Given the description of an element on the screen output the (x, y) to click on. 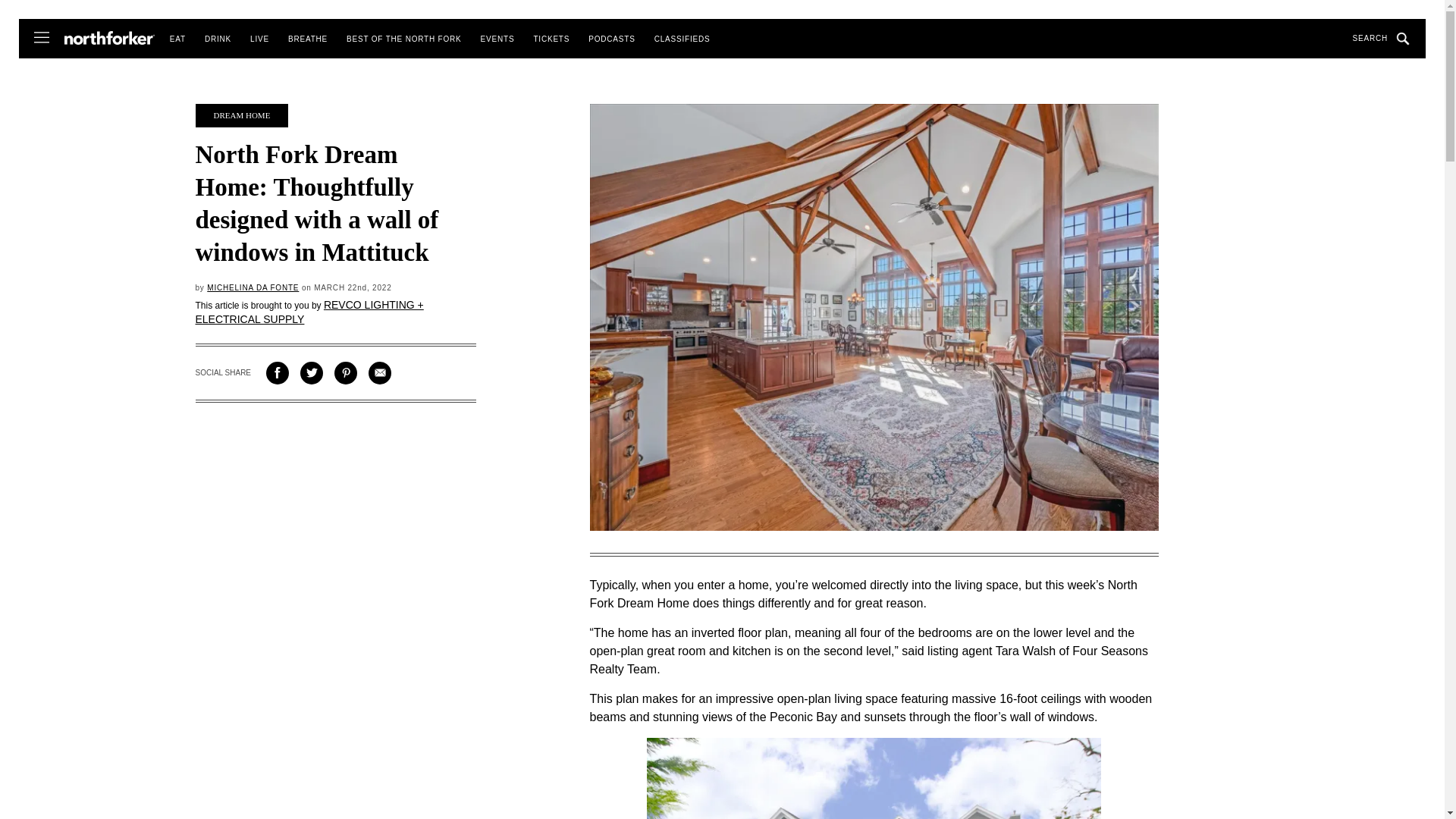
CLASSIFIEDS (681, 39)
EVENTS (497, 39)
BREATHE (307, 39)
TICKETS (550, 39)
LIVE (259, 39)
PODCASTS (611, 39)
DRINK (218, 39)
Share via email. (379, 372)
Tweet this! (311, 372)
